Given the description of an element on the screen output the (x, y) to click on. 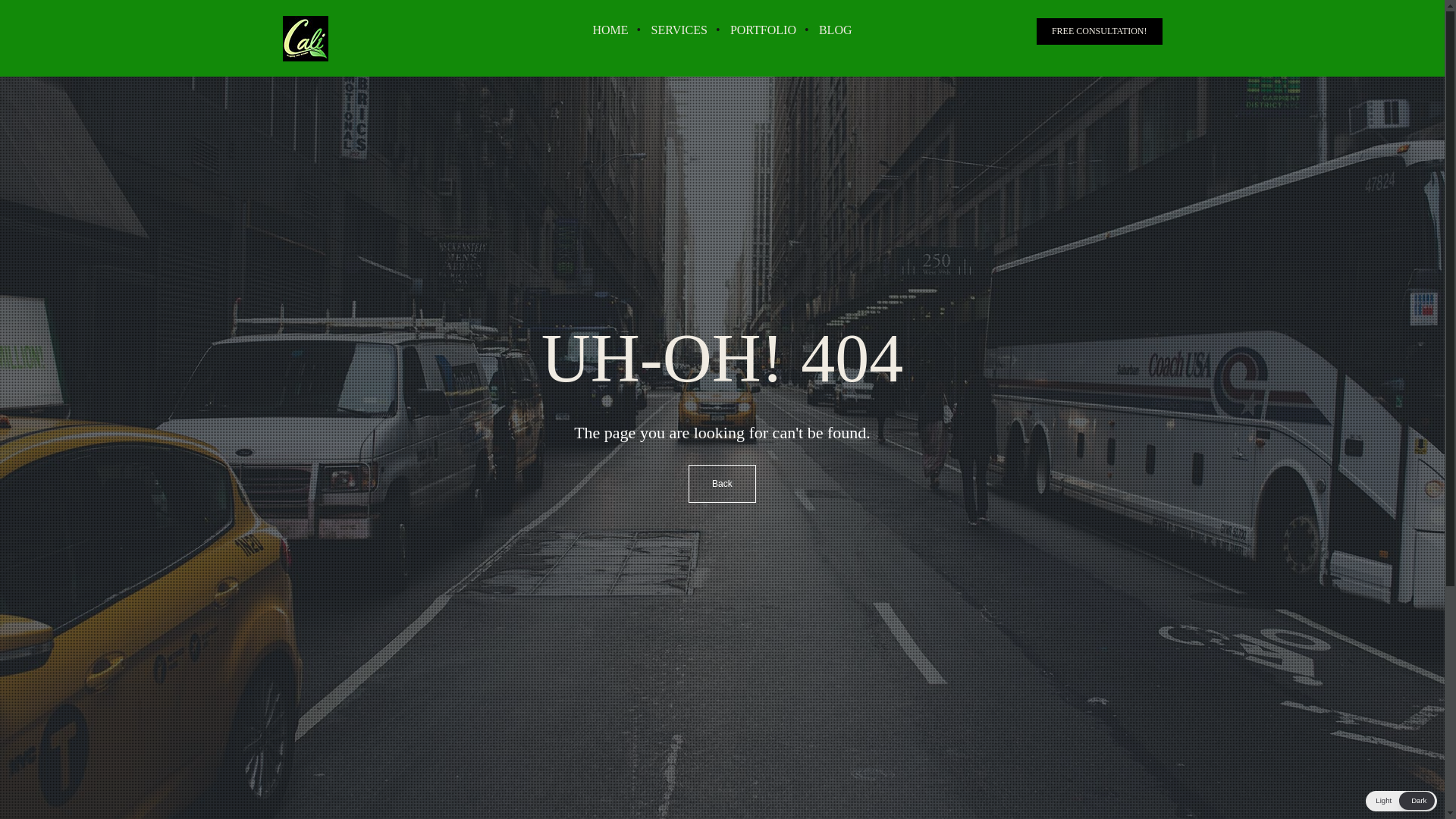
BLOG (835, 30)
FREE CONSULTATION! (1098, 31)
PORTFOLIO (763, 30)
HOME (609, 30)
SERVICES (679, 30)
Back (721, 483)
